Given the description of an element on the screen output the (x, y) to click on. 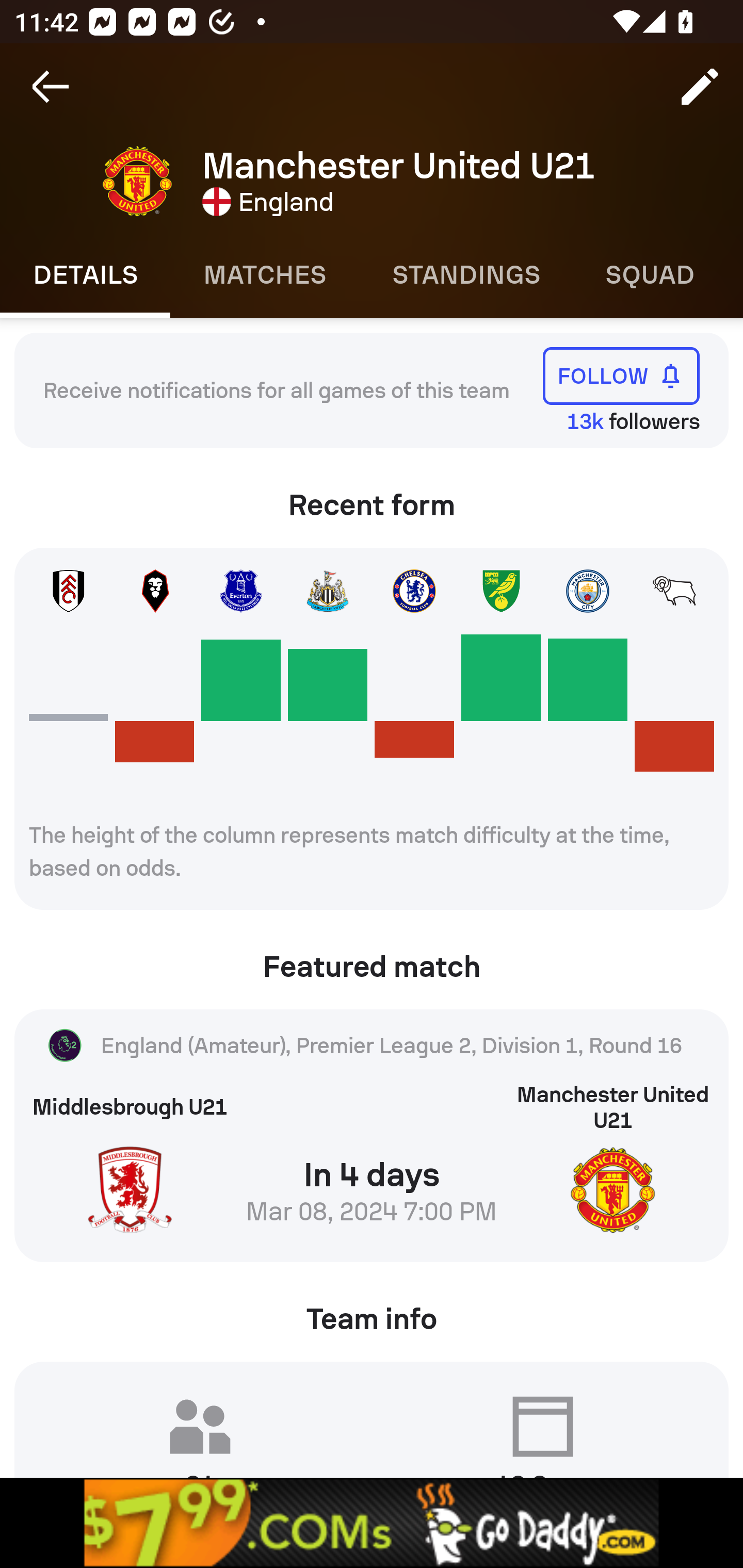
Navigate up (50, 86)
Edit (699, 86)
Matches MATCHES (264, 275)
Standings STANDINGS (465, 275)
Squad SQUAD (650, 275)
FOLLOW (621, 375)
492 (371, 1522)
